Given the description of an element on the screen output the (x, y) to click on. 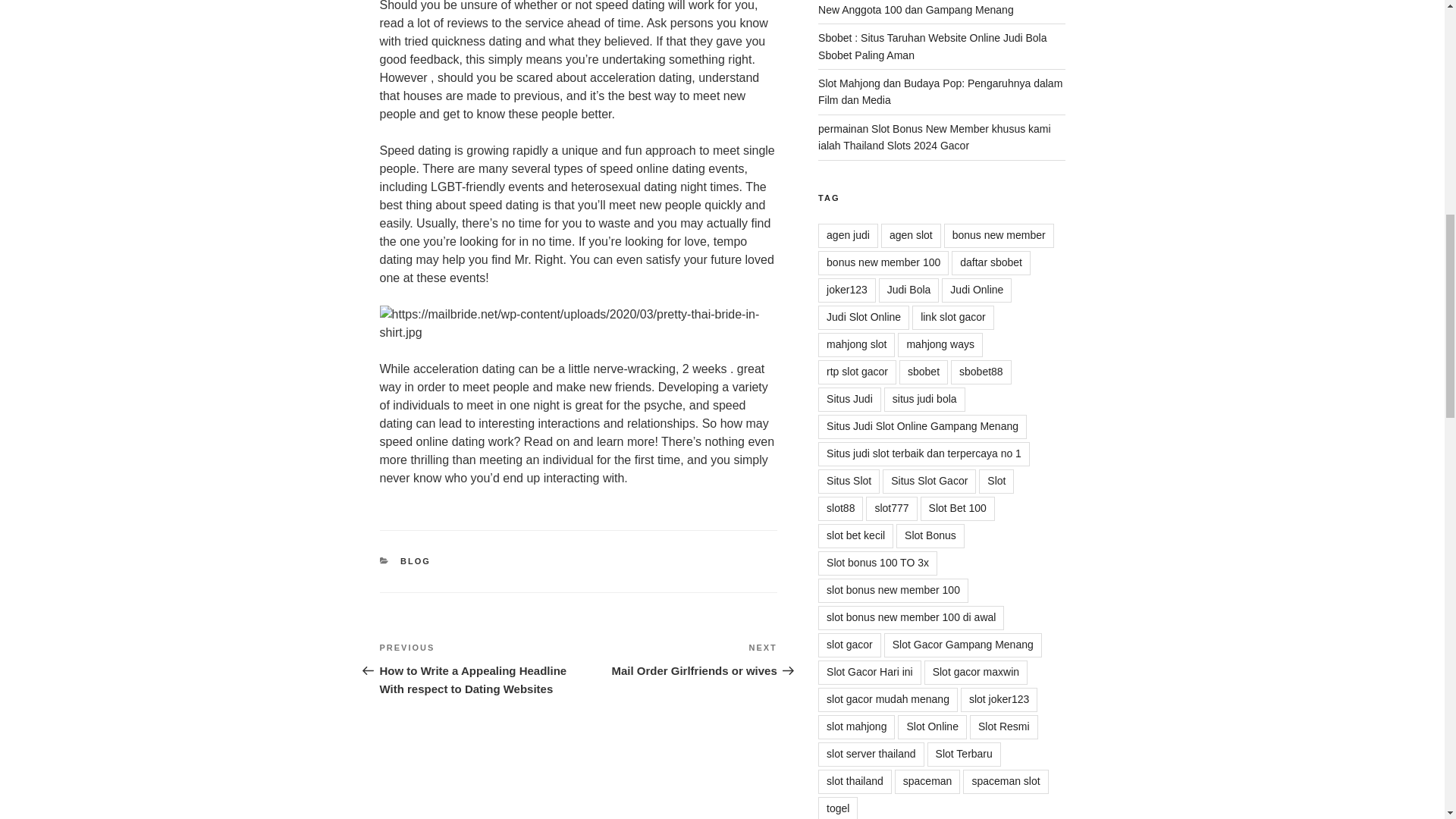
Judi Online (976, 290)
mahjong slot (856, 344)
Judi Bola (909, 290)
link slot gacor (953, 317)
mahjong ways (940, 344)
Judi Slot Online (863, 317)
bonus new member (677, 659)
joker123 (998, 235)
